Given the description of an element on the screen output the (x, y) to click on. 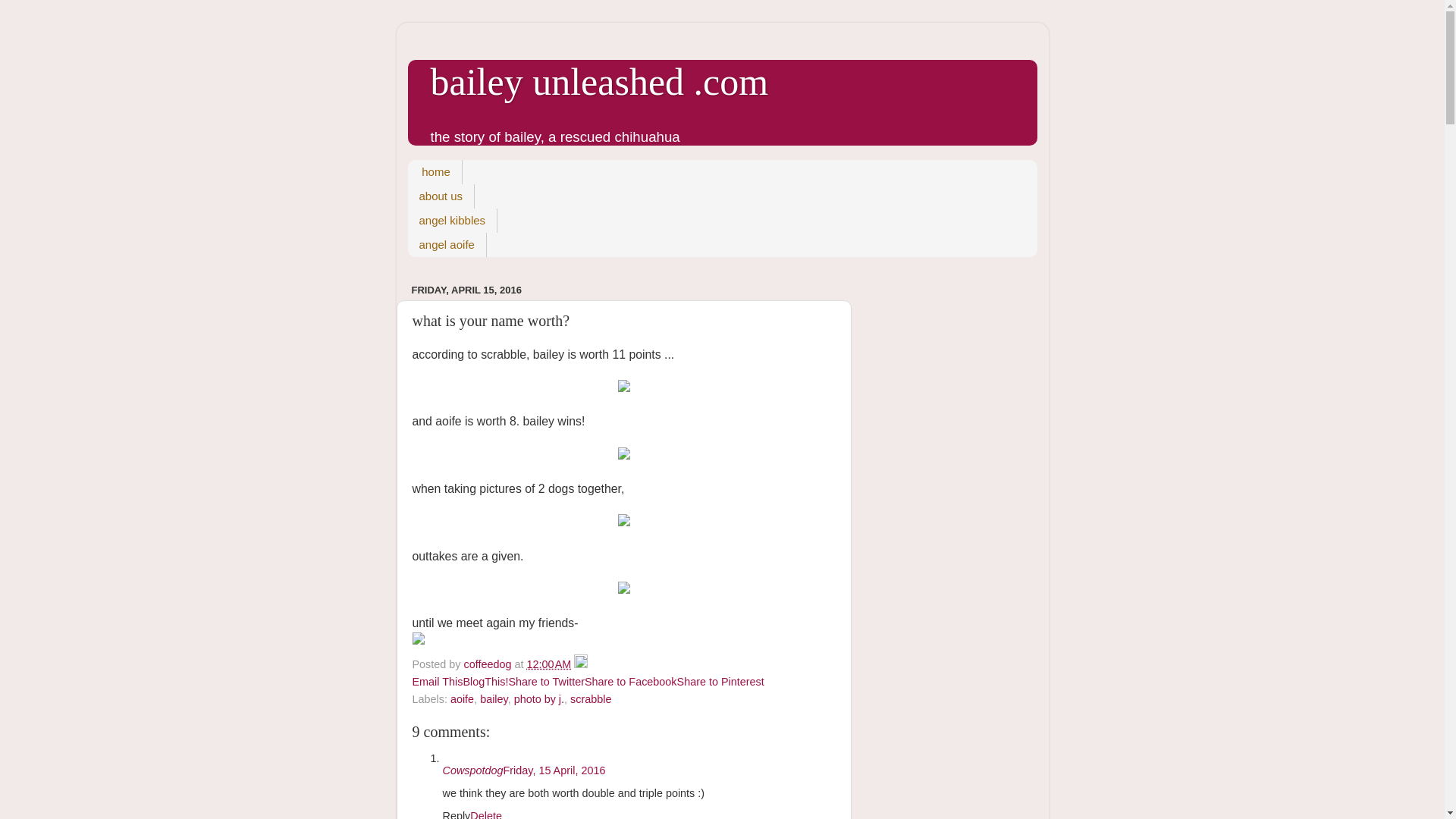
bailey (494, 698)
Reply (456, 814)
scrabble (590, 698)
Friday, 15 April, 2016 (554, 770)
Email This (437, 681)
Share to Pinterest (720, 681)
Cowspotdog (472, 770)
BlogThis! (485, 681)
author profile (489, 664)
angel aoife (446, 244)
Share to Facebook (631, 681)
Email This (437, 681)
BlogThis! (485, 681)
Share to Twitter (546, 681)
about us (441, 196)
